Given the description of an element on the screen output the (x, y) to click on. 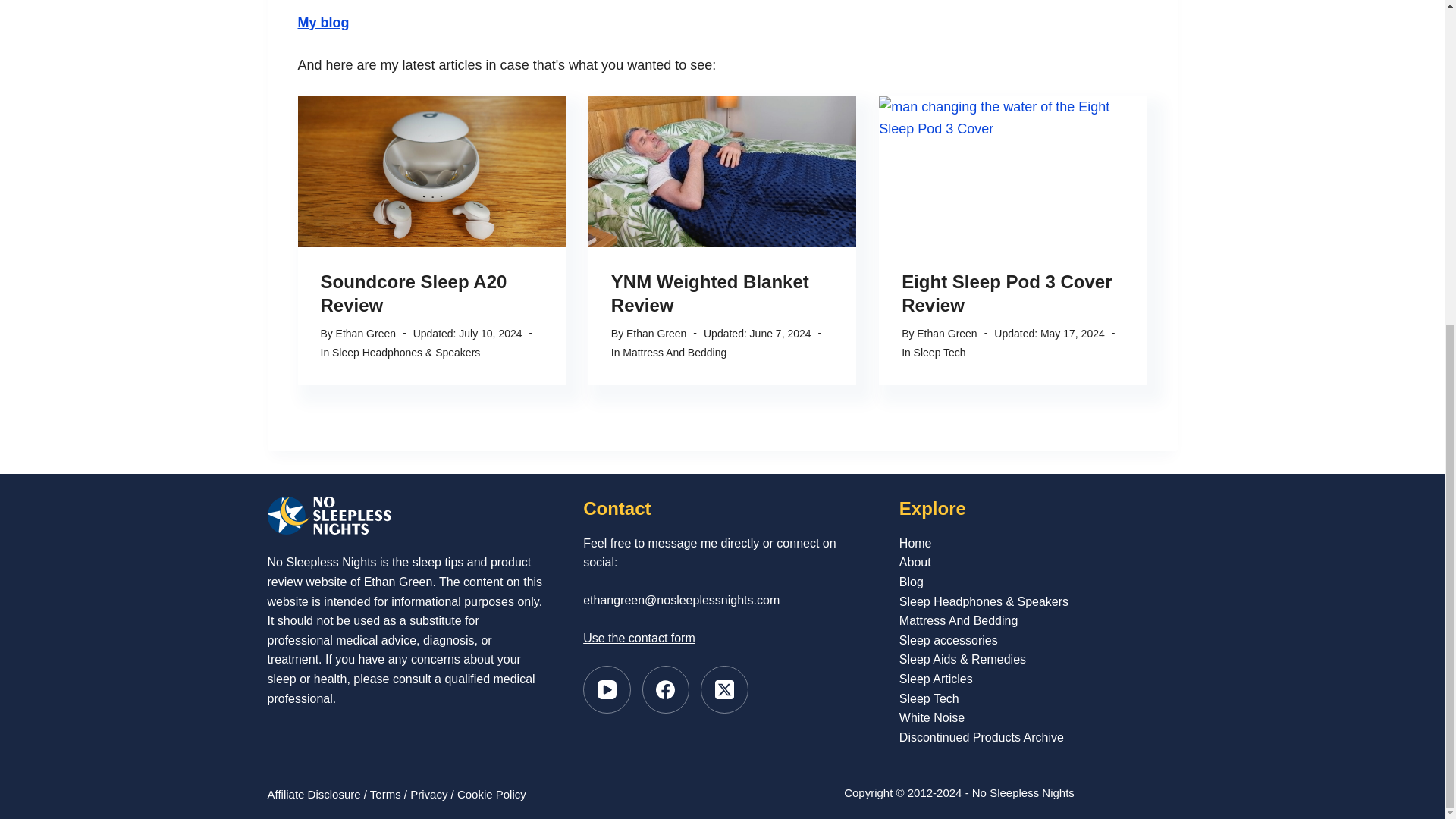
My blog (323, 22)
Posts by Ethan Green (655, 333)
Soundcore Sleep A20 Review (413, 293)
Posts by Ethan Green (946, 333)
Ethan Green (366, 333)
Posts by Ethan Green (366, 333)
